Given the description of an element on the screen output the (x, y) to click on. 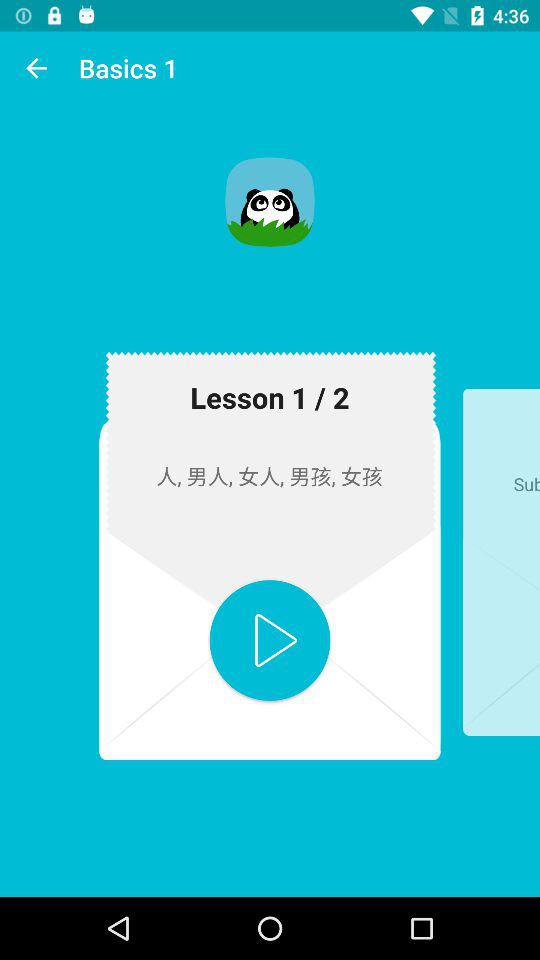
play start button (269, 640)
